Given the description of an element on the screen output the (x, y) to click on. 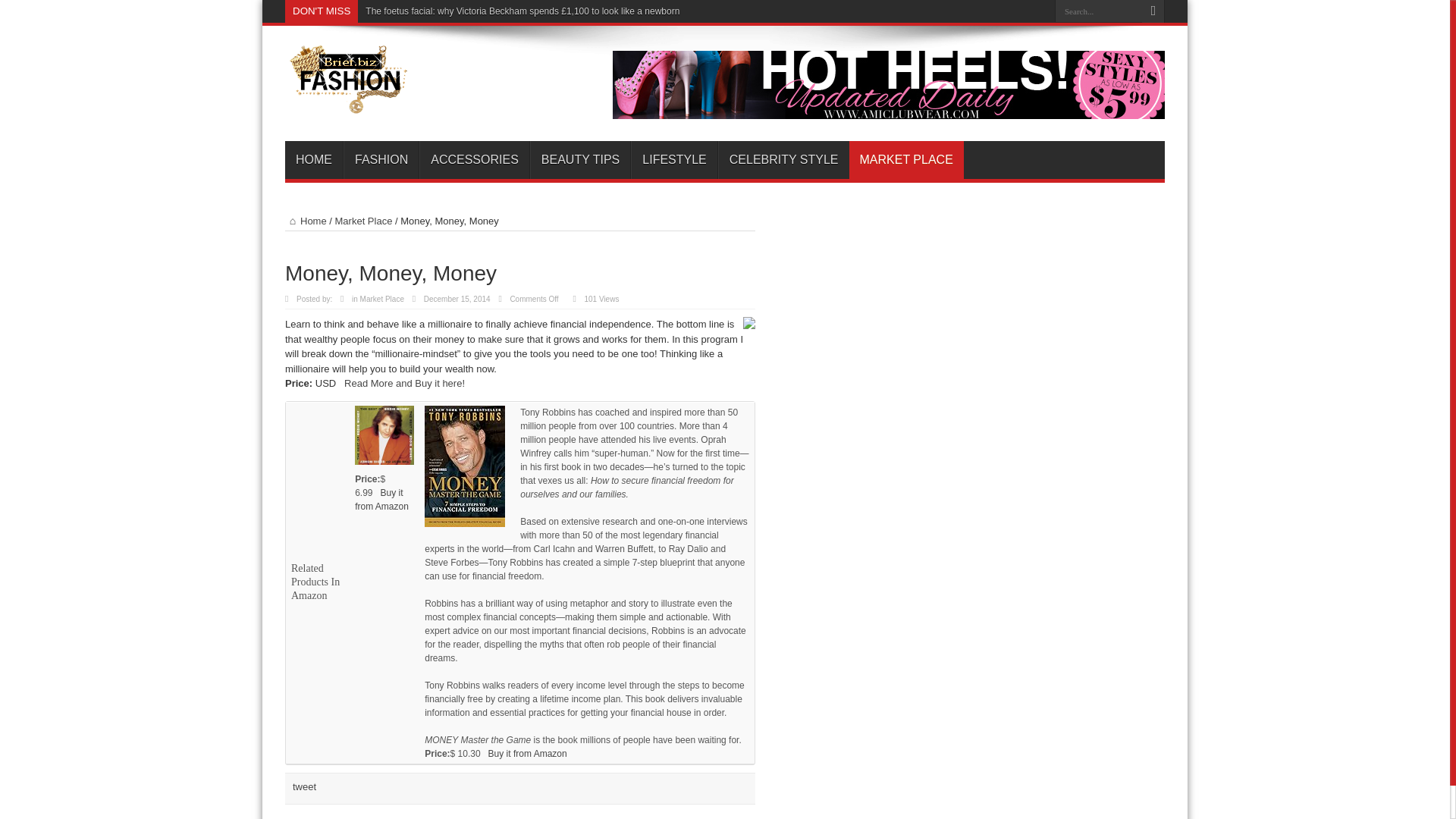
CELEBRITY STYLE (782, 159)
HOME (313, 159)
Market Place (363, 220)
Search (1152, 11)
Market Place (381, 298)
Read More and Buy it here! (403, 383)
Buy it from Amazon (382, 499)
Buy it from Amazon (527, 752)
Home (305, 220)
Search... (1097, 11)
